Given the description of an element on the screen output the (x, y) to click on. 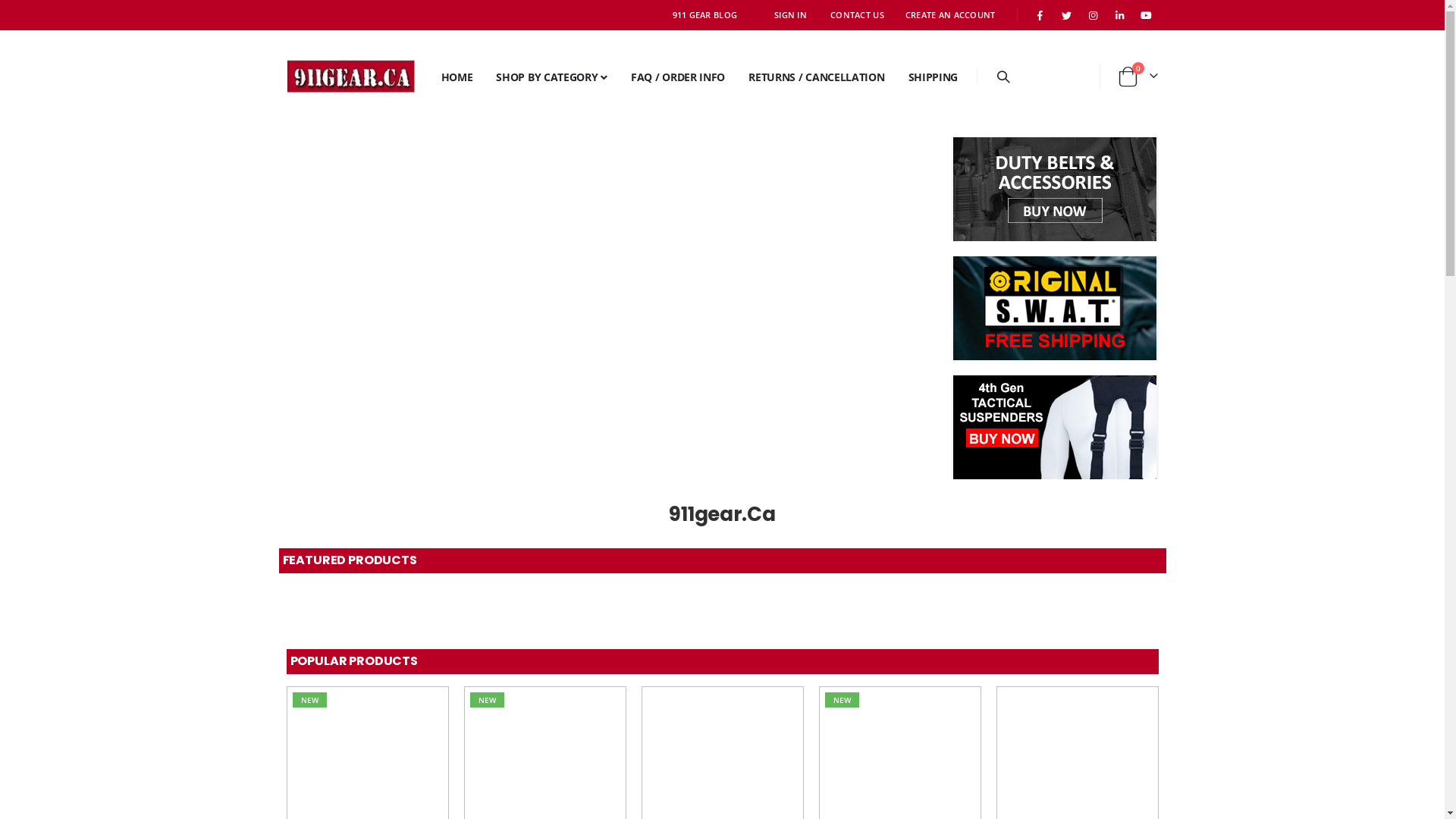
SHIPPING Element type: text (929, 76)
SIGN IN Element type: text (790, 15)
911 GEAR BLOG Element type: text (705, 15)
Instagram Element type: text (1092, 14)
SHOP BY CATEGORY Element type: text (547, 76)
RETURNS / CANCELLATION Element type: text (812, 76)
Youtube Element type: text (1145, 14)
HOME Element type: text (453, 76)
CREATE AN ACCOUNT Element type: text (950, 15)
Cart
0 Element type: text (1137, 76)
FAQ / ORDER INFO Element type: text (673, 76)
CONTACT US Element type: text (856, 15)
Facebook Element type: hover (1039, 14)
Linkedin Element type: text (1119, 14)
Twitter Element type: hover (1066, 14)
